Given the description of an element on the screen output the (x, y) to click on. 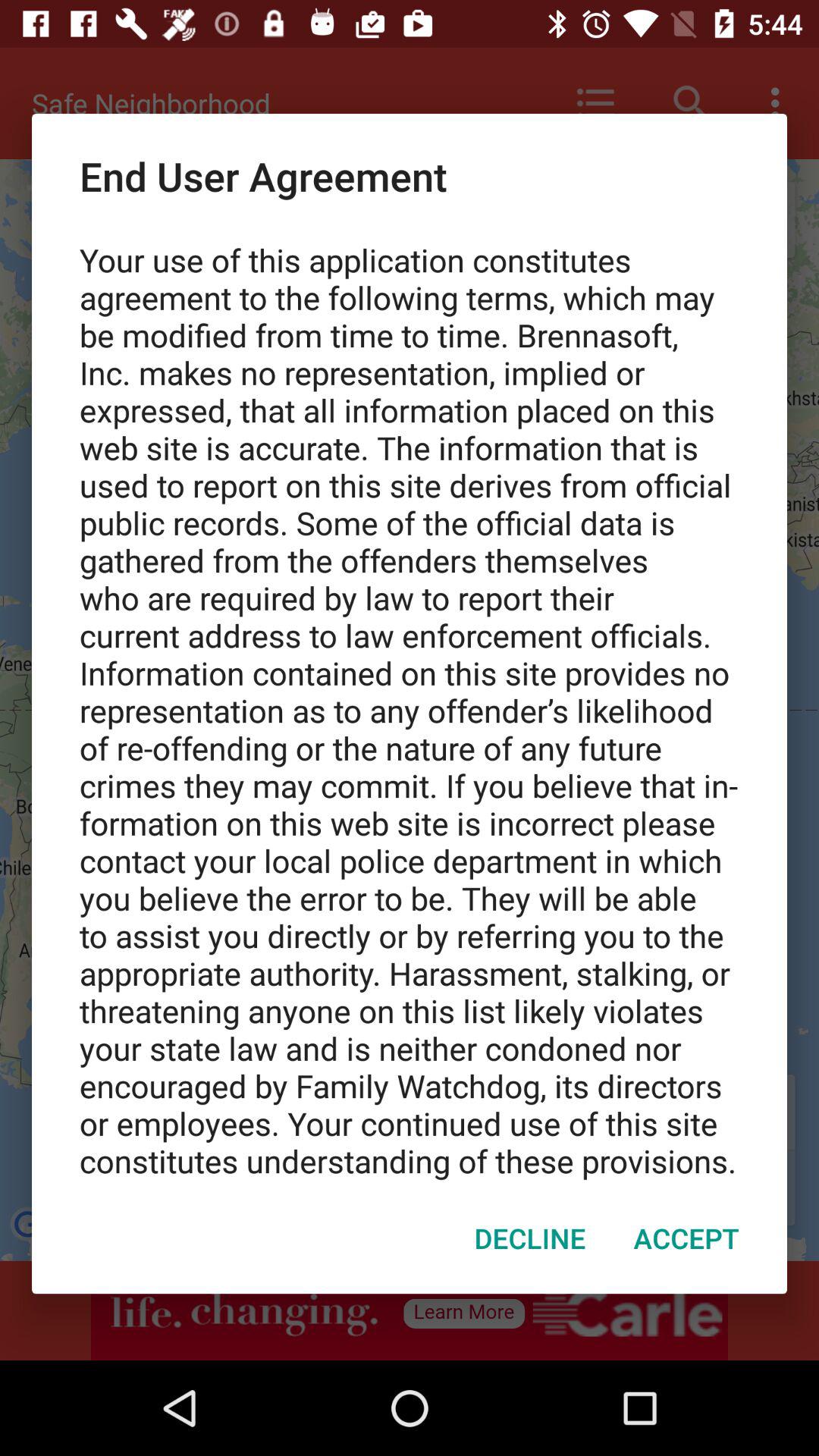
click the icon to the left of the accept icon (529, 1237)
